Given the description of an element on the screen output the (x, y) to click on. 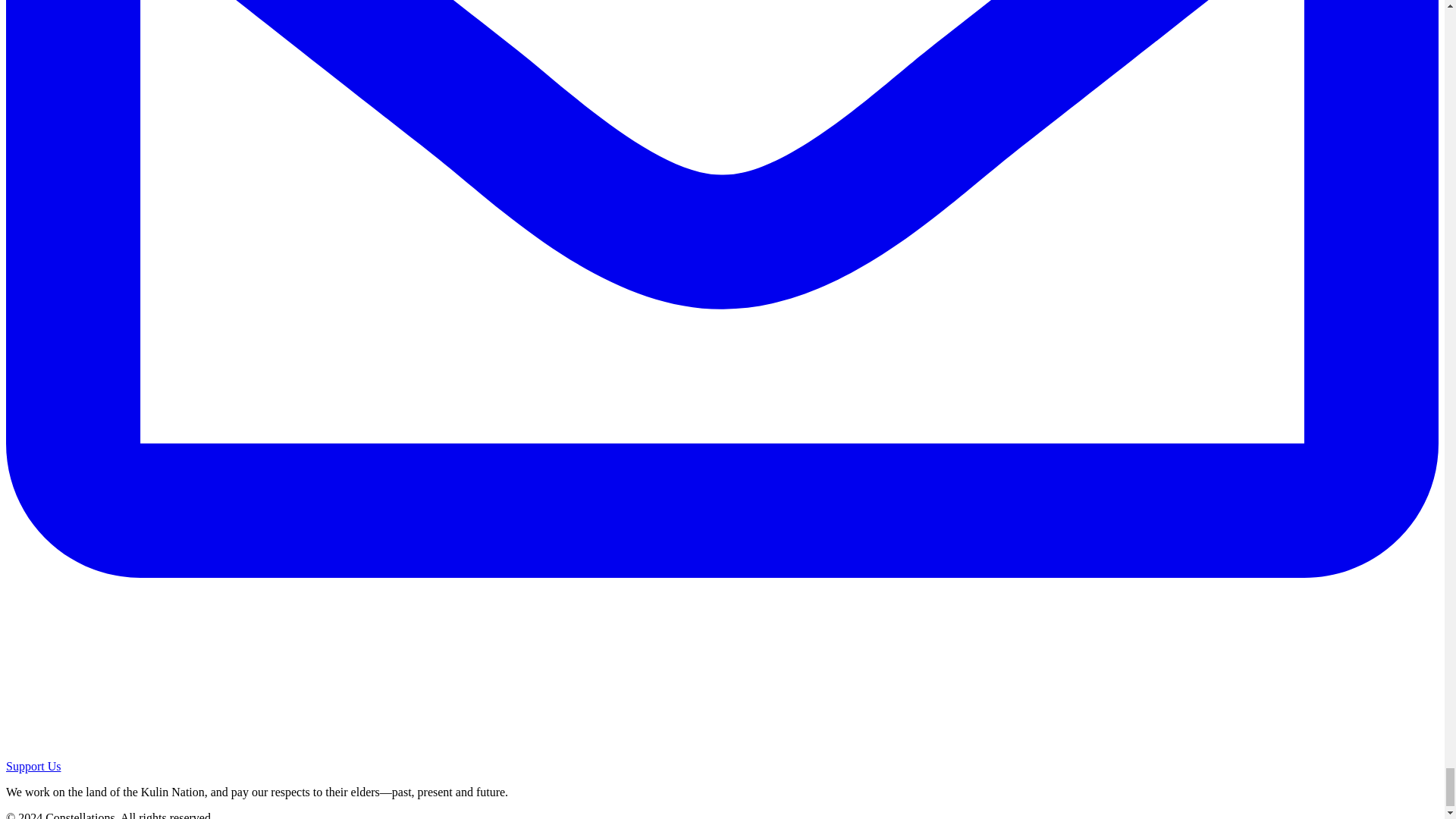
Support Us (33, 766)
